Given the description of an element on the screen output the (x, y) to click on. 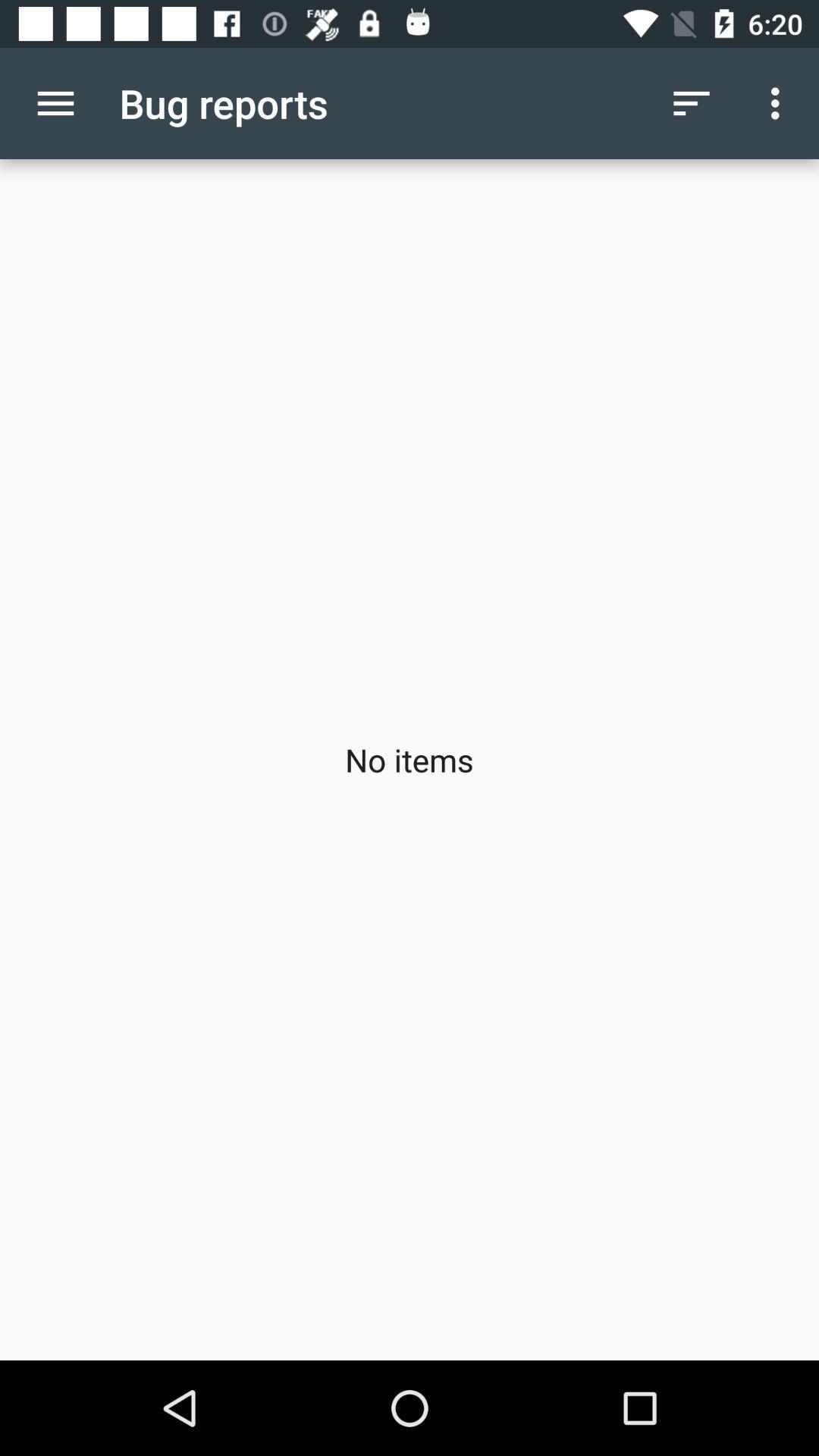
turn off the icon to the right of bug reports app (691, 103)
